Given the description of an element on the screen output the (x, y) to click on. 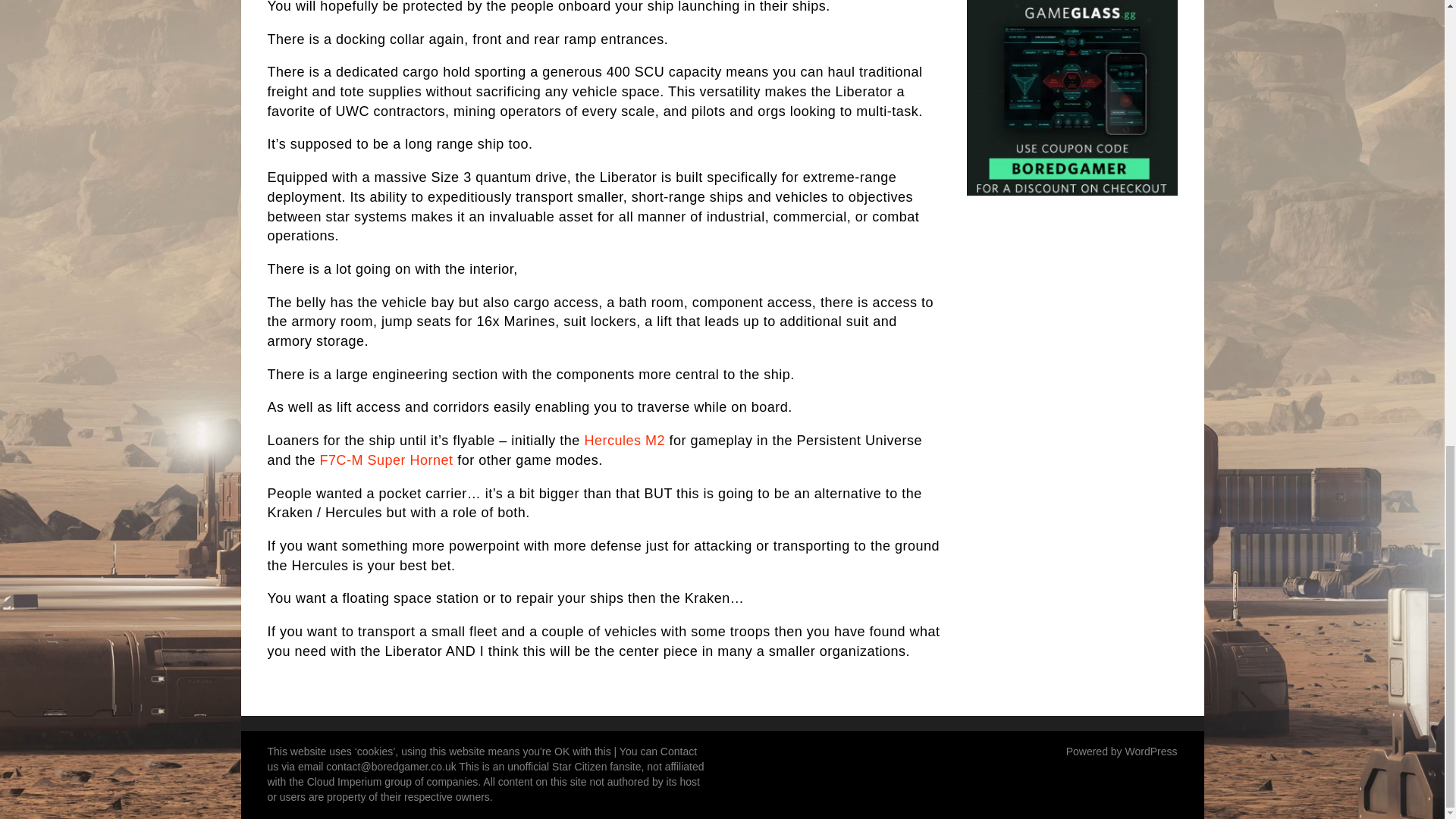
Hercules M2 (624, 440)
F7C-M Super Hornet (386, 459)
WordPress (1151, 751)
